Given the description of an element on the screen output the (x, y) to click on. 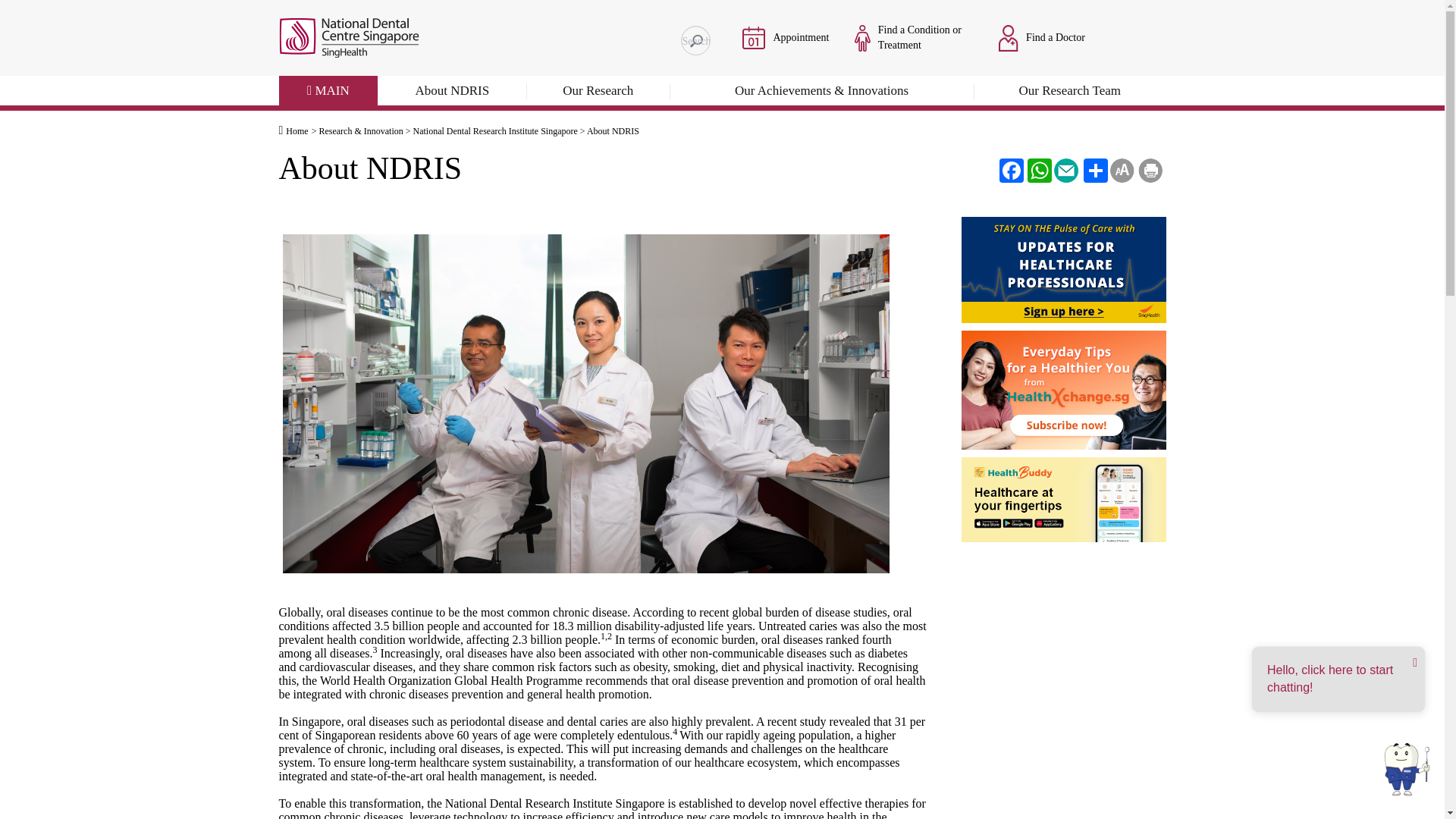
Share this Page (1093, 170)
WhatsApp (1037, 170)
Print (1149, 170)
Find a Doctor (1042, 37)
MAIN (328, 93)
Facebook (1009, 170)
Find a Condition or Treatment (913, 37)
How can we help you? (695, 40)
Find a Condition or Treatment (861, 37)
Appointment (753, 37)
Find a Doctor (1007, 37)
Email Us (1066, 170)
Appointment (785, 37)
